Given the description of an element on the screen output the (x, y) to click on. 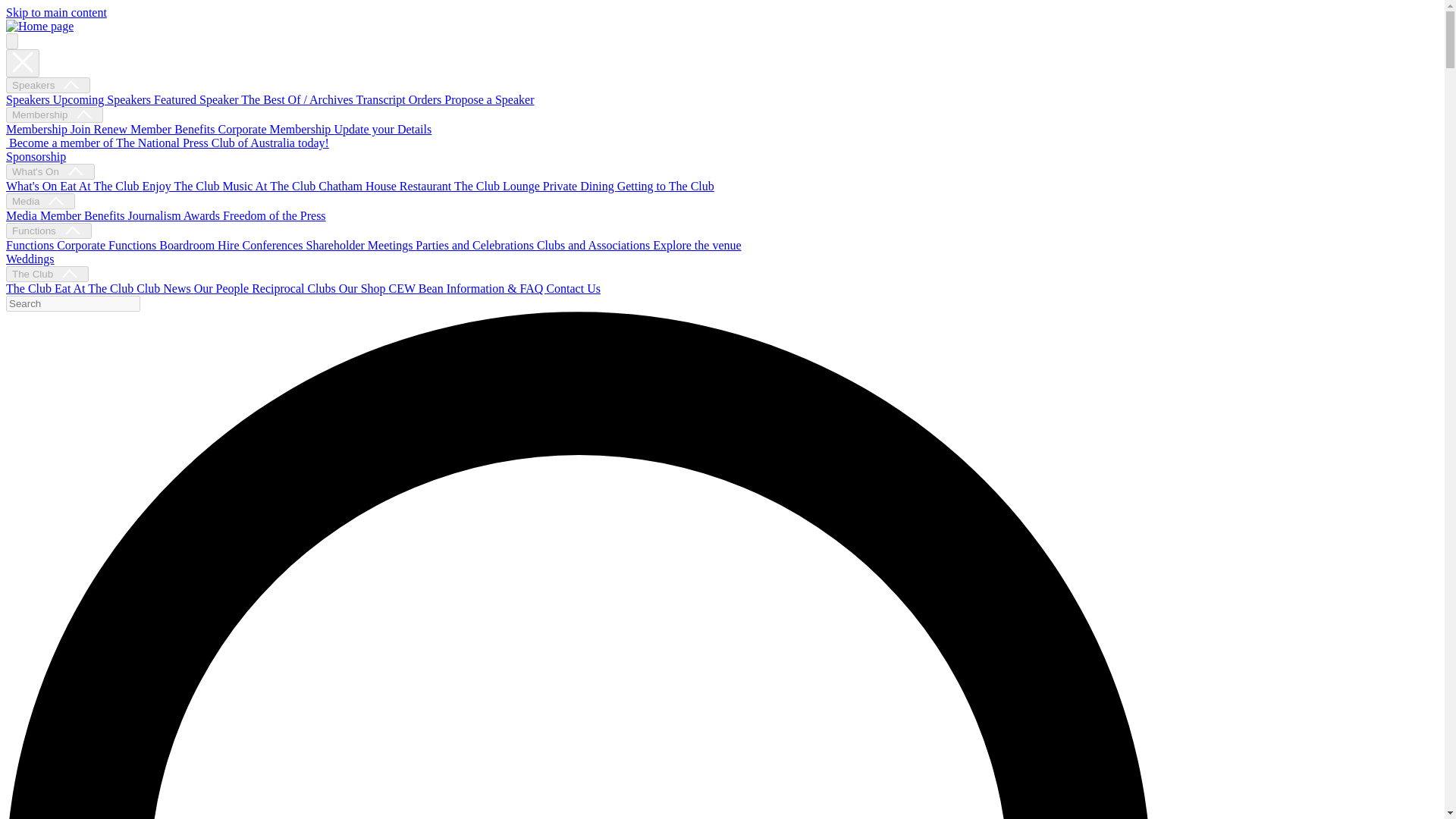
What's On (49, 171)
Skip to main content (55, 11)
Member Benefits (174, 128)
Functions (30, 245)
What's On (32, 185)
Music At The Club (270, 185)
Journalism Awards (175, 215)
Media (40, 201)
Join (81, 128)
The Club Lounge (498, 185)
